Given the description of an element on the screen output the (x, y) to click on. 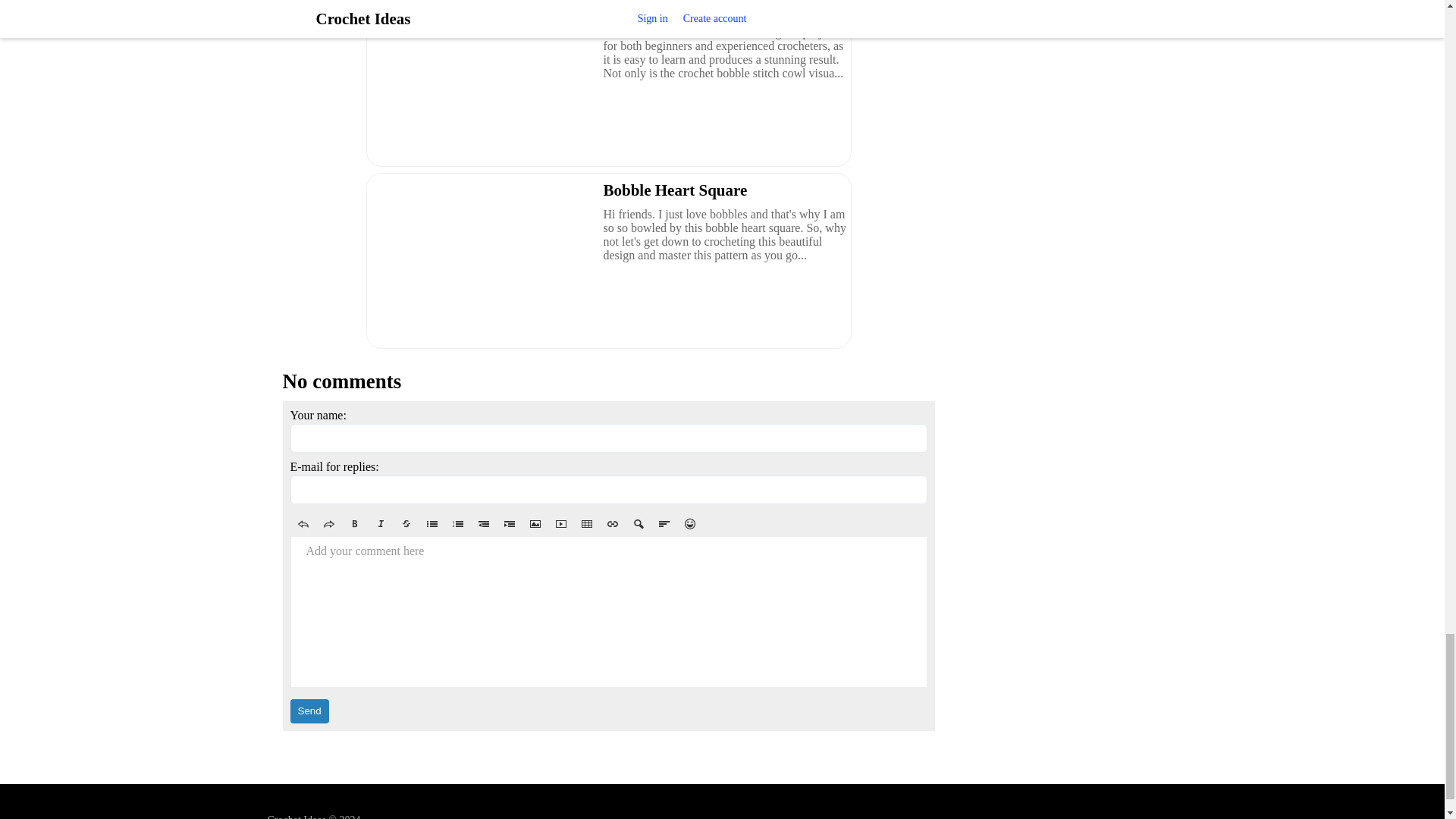
Insert Video (560, 523)
Italic (379, 523)
Deleted (406, 523)
Link (611, 523)
1. Ordered List (457, 523)
Alignment (663, 523)
Redo (327, 523)
Send (309, 711)
Undo (302, 523)
